Given the description of an element on the screen output the (x, y) to click on. 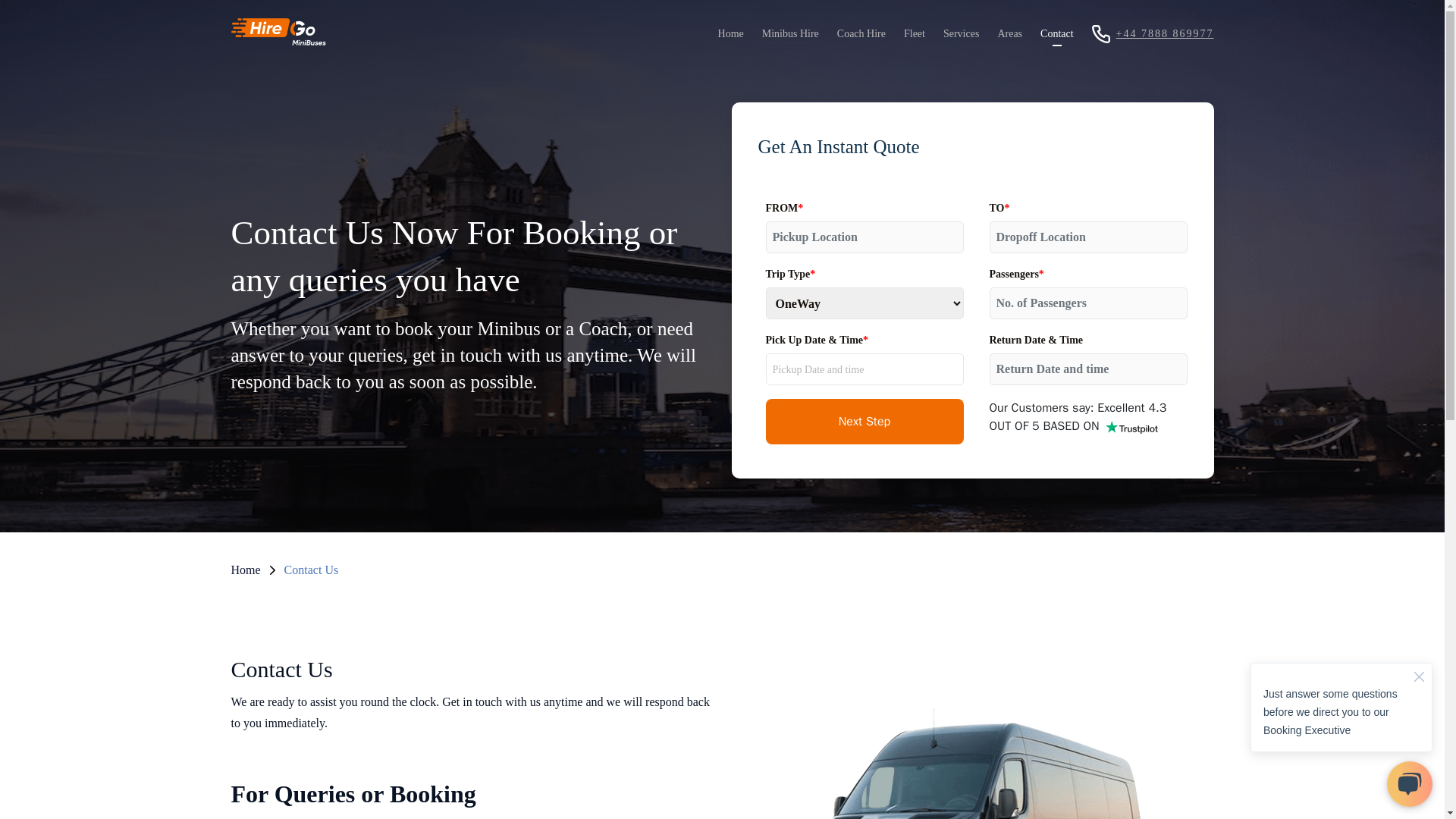
Services (961, 33)
Coach Hire (861, 33)
Contact (1056, 33)
Minibus Hire (790, 33)
Home (245, 569)
Areas (1009, 33)
Next Step (864, 421)
Home (730, 33)
Fleet (914, 33)
